Given the description of an element on the screen output the (x, y) to click on. 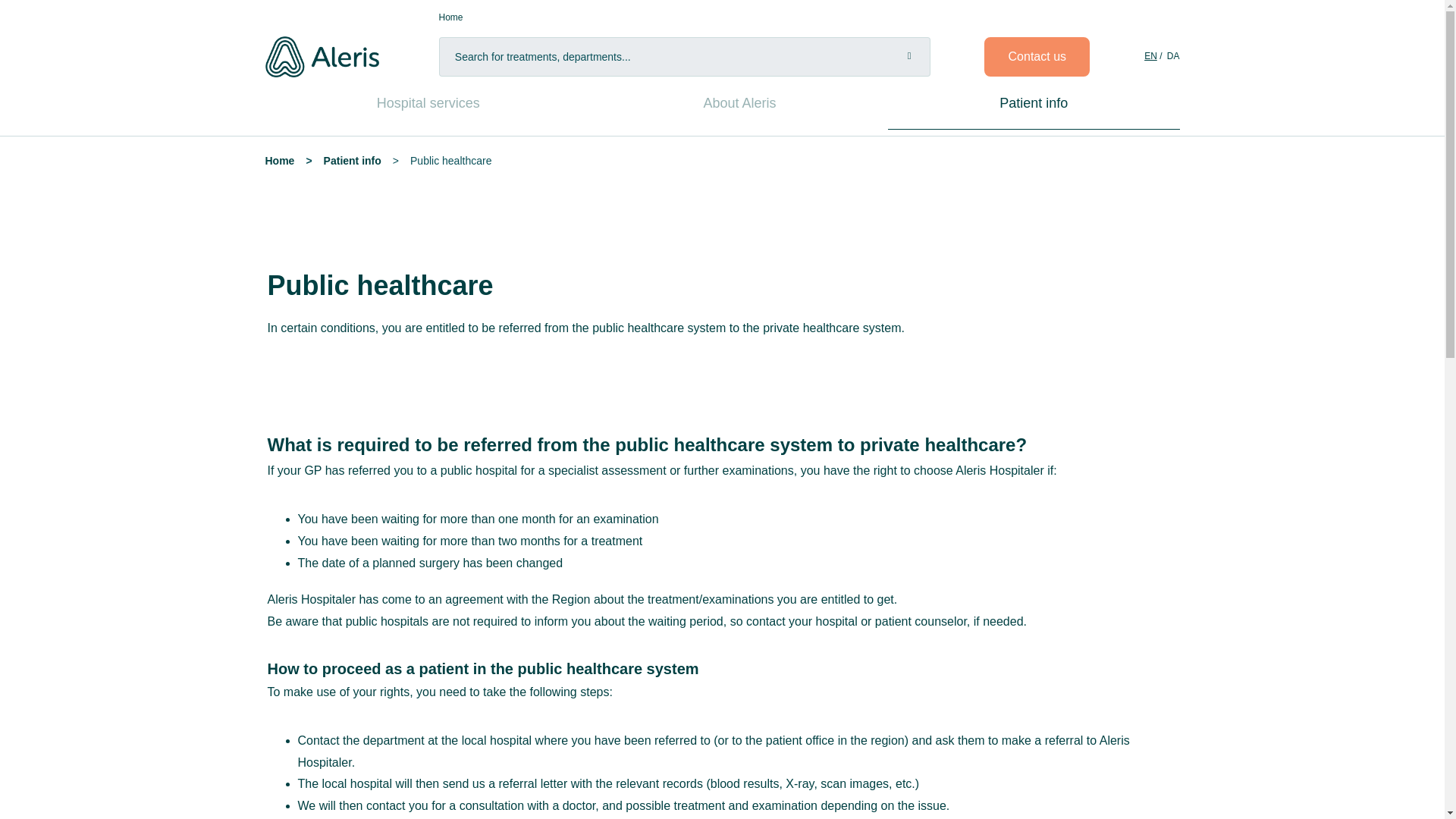
About Aleris (739, 102)
DA (1173, 55)
Home (450, 17)
Home (279, 160)
Contact us (1036, 56)
EN (1150, 55)
Patient info (1032, 102)
Patient info (352, 160)
Hospital services (428, 102)
